Given the description of an element on the screen output the (x, y) to click on. 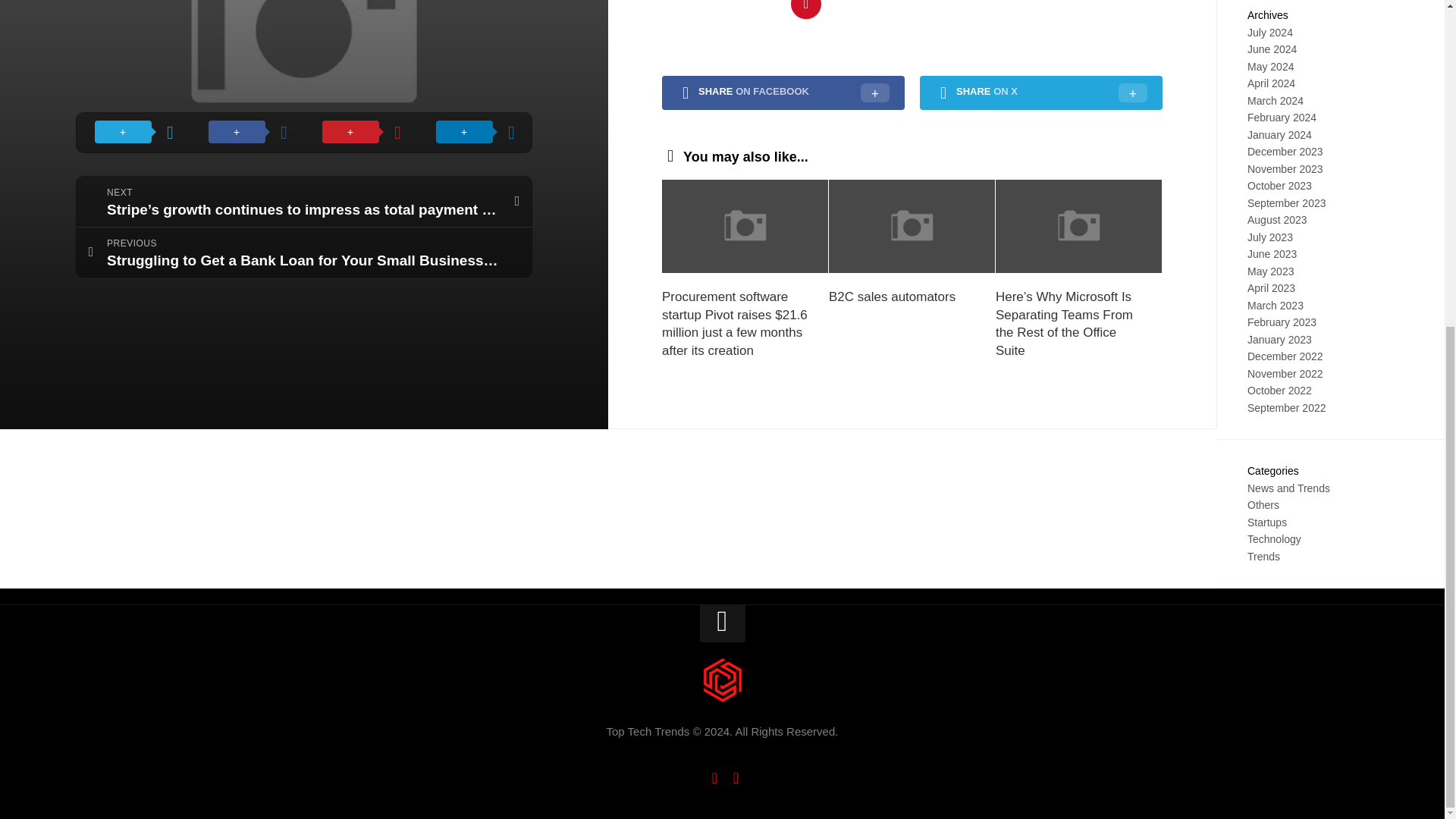
Share on Facebook (247, 47)
November 2023 (1285, 168)
January 2024 (1279, 133)
B2C sales automators (891, 296)
July 2024 (1269, 32)
June 2024 (1272, 49)
SHARE ON X (1040, 93)
April 2024 (1271, 82)
Facebook (714, 777)
Share on X (133, 47)
Share on Pinterest (360, 47)
December 2023 (1285, 151)
Twitter (735, 777)
May 2024 (1270, 65)
March 2024 (1275, 101)
